Given the description of an element on the screen output the (x, y) to click on. 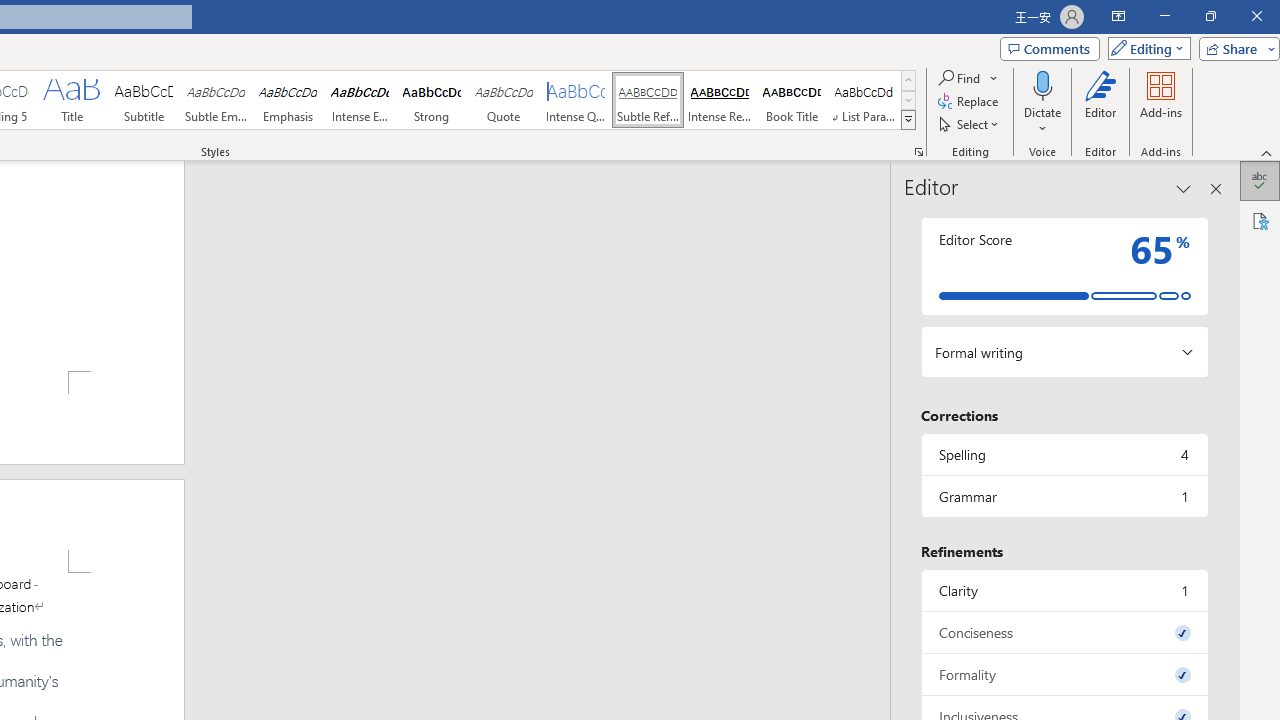
Spelling, 4 issues. Press space or enter to review items. (1064, 454)
